Given the description of an element on the screen output the (x, y) to click on. 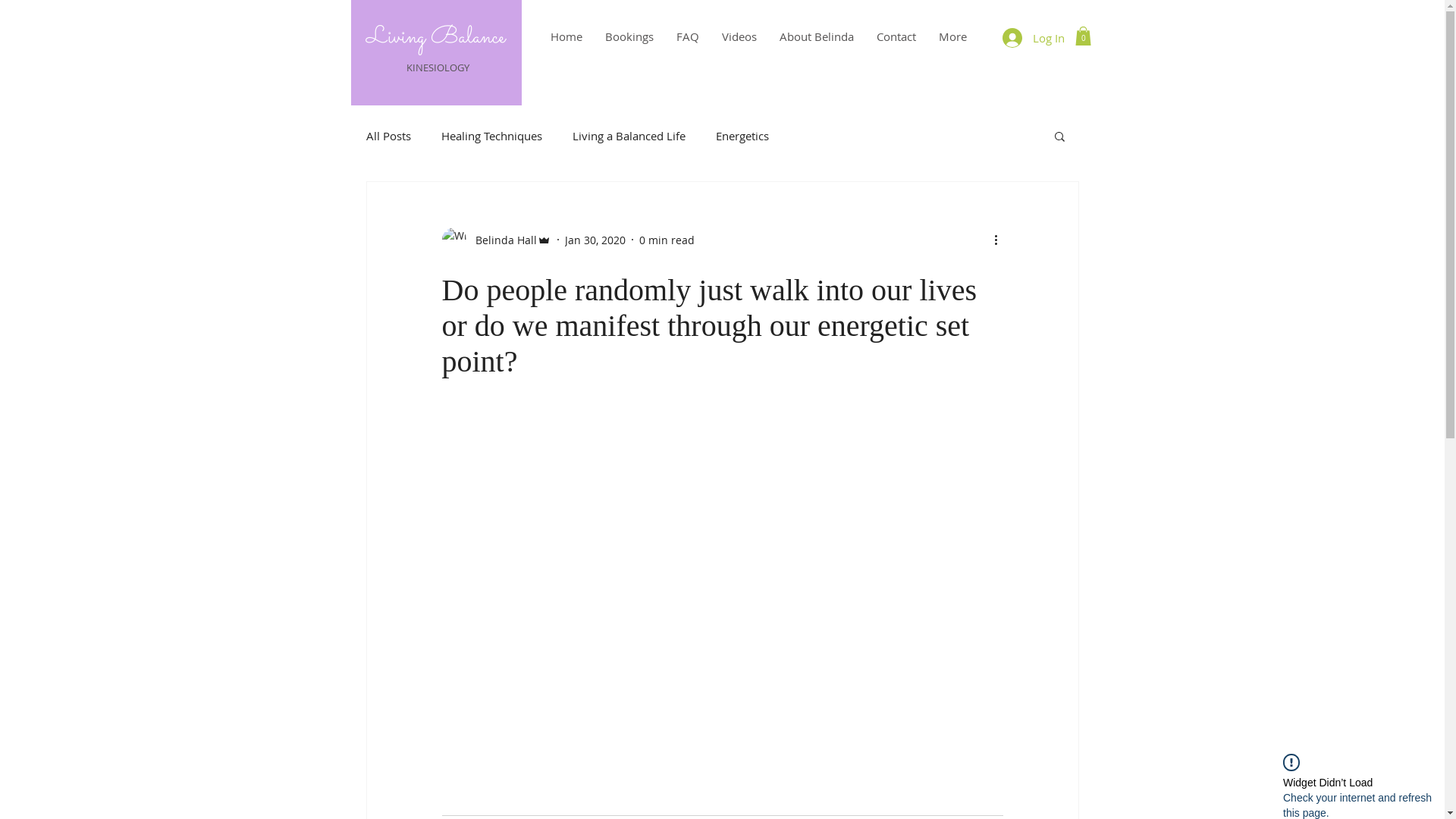
About Belinda Element type: text (815, 36)
All Posts Element type: text (387, 135)
Living a Balanced Life Element type: text (627, 135)
Home Element type: text (565, 36)
Belinda Hall Element type: text (495, 239)
Living Balance Element type: text (434, 37)
Healing Techniques Element type: text (491, 135)
FAQ Element type: text (686, 36)
0 Element type: text (1083, 35)
Energetics Element type: text (741, 135)
Videos Element type: text (738, 36)
KINESIOLOGY  Element type: text (438, 67)
Contact Element type: text (895, 36)
Bookings Element type: text (628, 36)
Log In Element type: text (1033, 37)
